Given the description of an element on the screen output the (x, y) to click on. 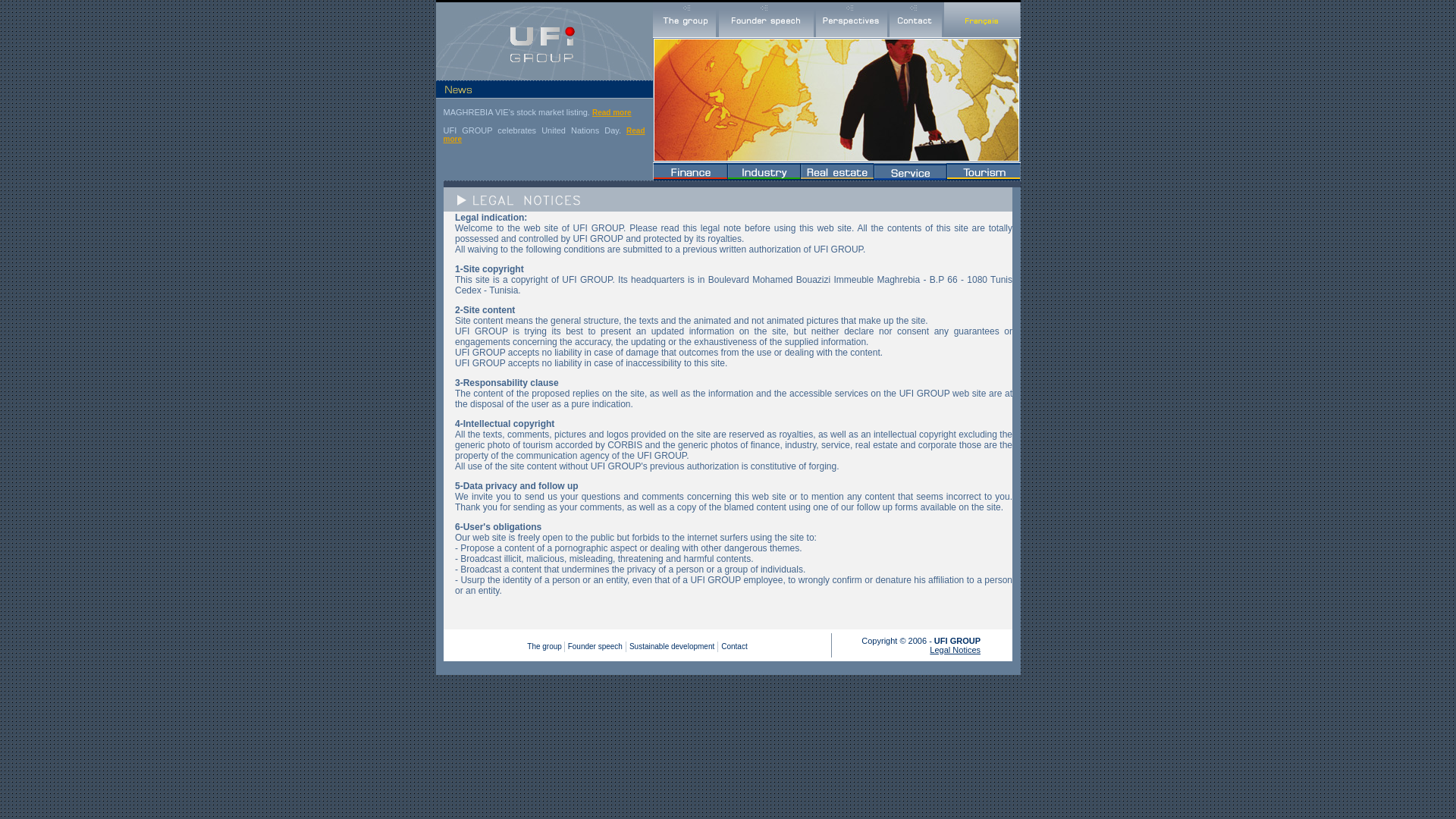
Legal Notices (954, 649)
Contact (733, 646)
Sustainable development (671, 646)
Read more (543, 134)
Founder speech (595, 646)
The group (545, 646)
Read more (611, 112)
